Given the description of an element on the screen output the (x, y) to click on. 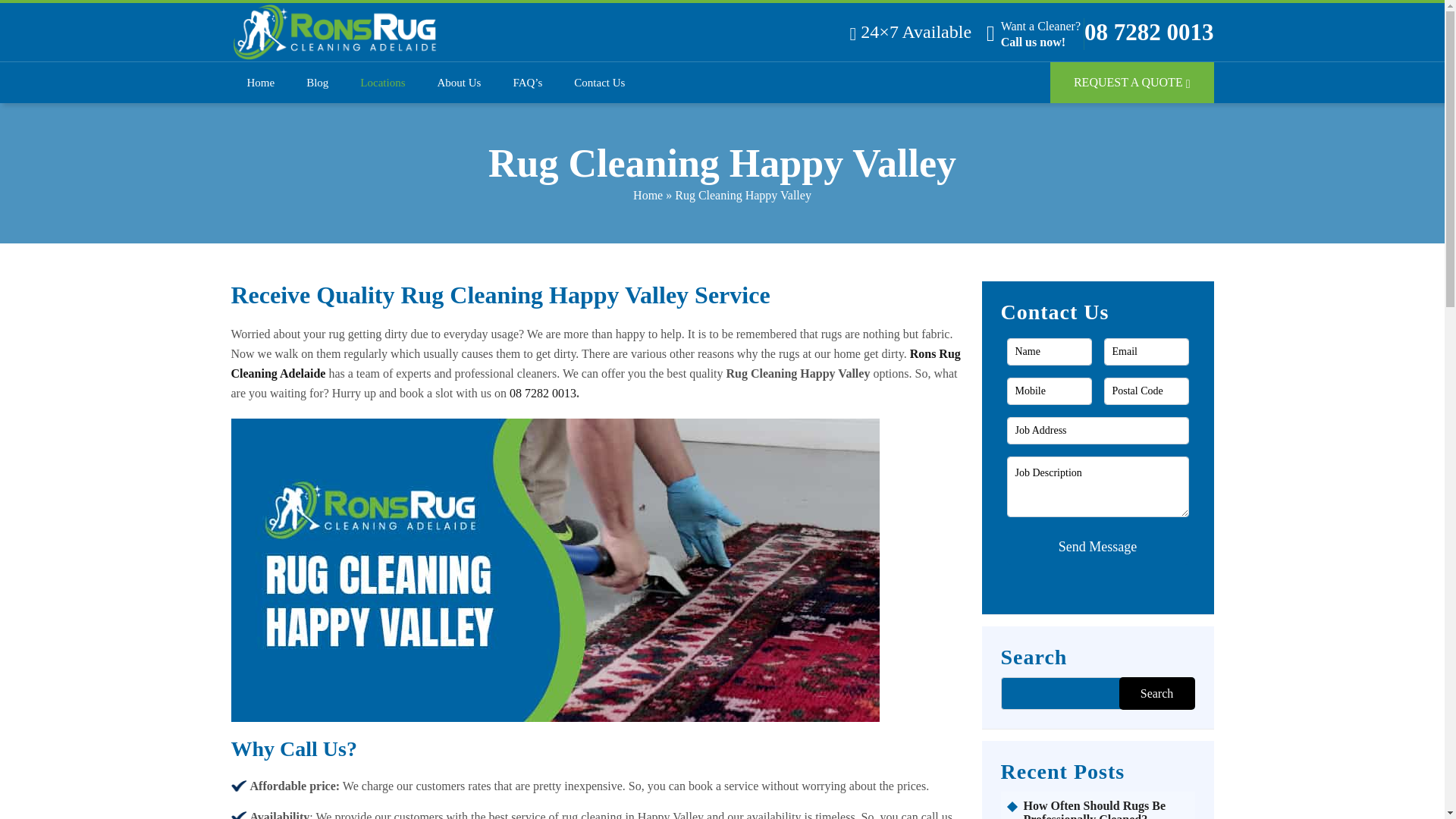
About Us (459, 82)
Blog (317, 82)
Search (1157, 693)
08 7282 0013 (542, 392)
REQUEST A QUOTE (1131, 82)
Locations (382, 82)
Send Message (1098, 547)
Rons Rug Cleaning Adelaide (594, 363)
Home (260, 82)
08 7282 0013 (1149, 32)
Home (647, 195)
Contact Us (599, 82)
